Given the description of an element on the screen output the (x, y) to click on. 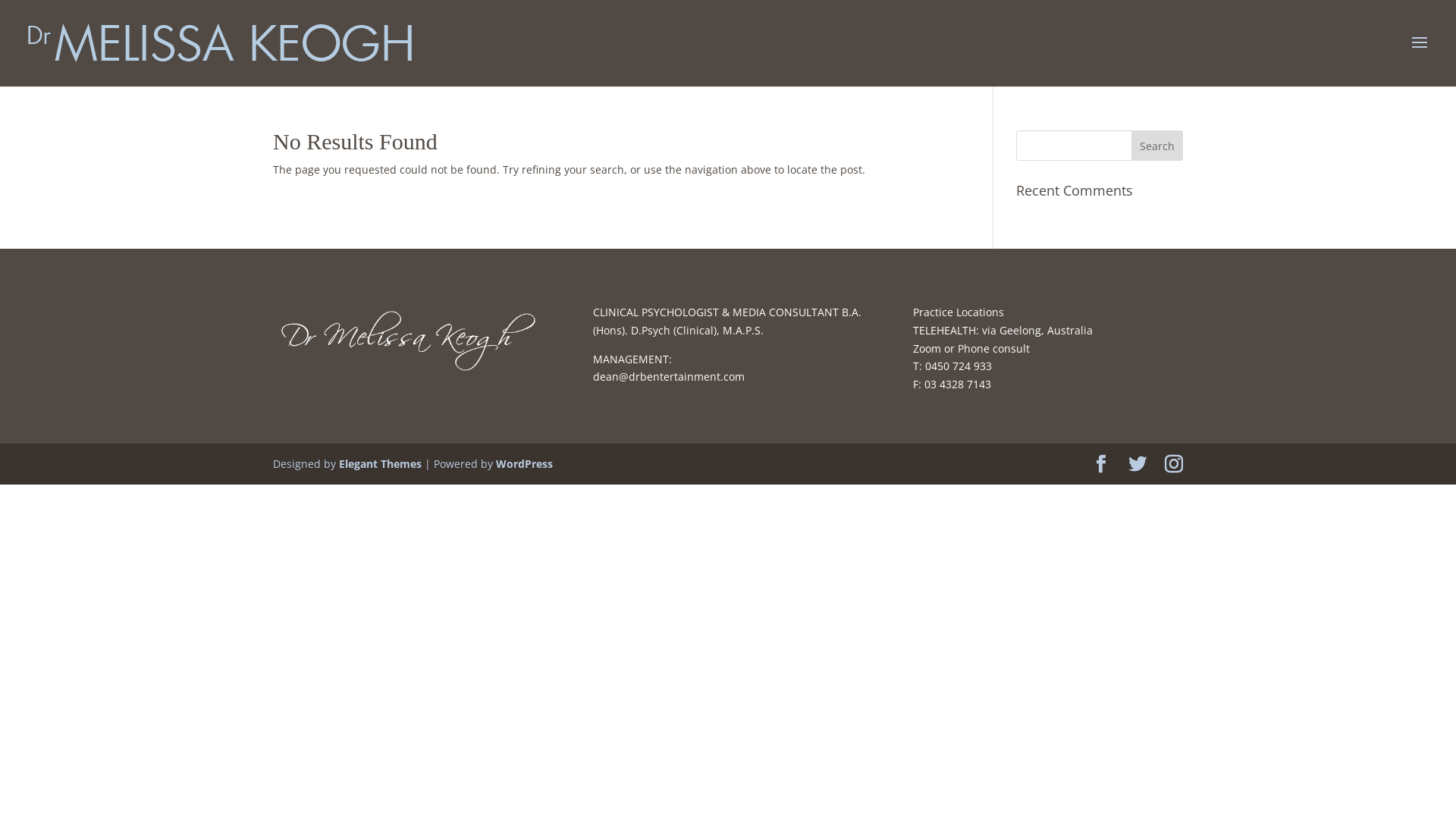
WordPress Element type: text (523, 463)
dean@drbentertainment.com Element type: text (668, 376)
0450 724 933 Element type: text (958, 365)
Elegant Themes Element type: text (379, 463)
Search Element type: text (1157, 145)
